Given the description of an element on the screen output the (x, y) to click on. 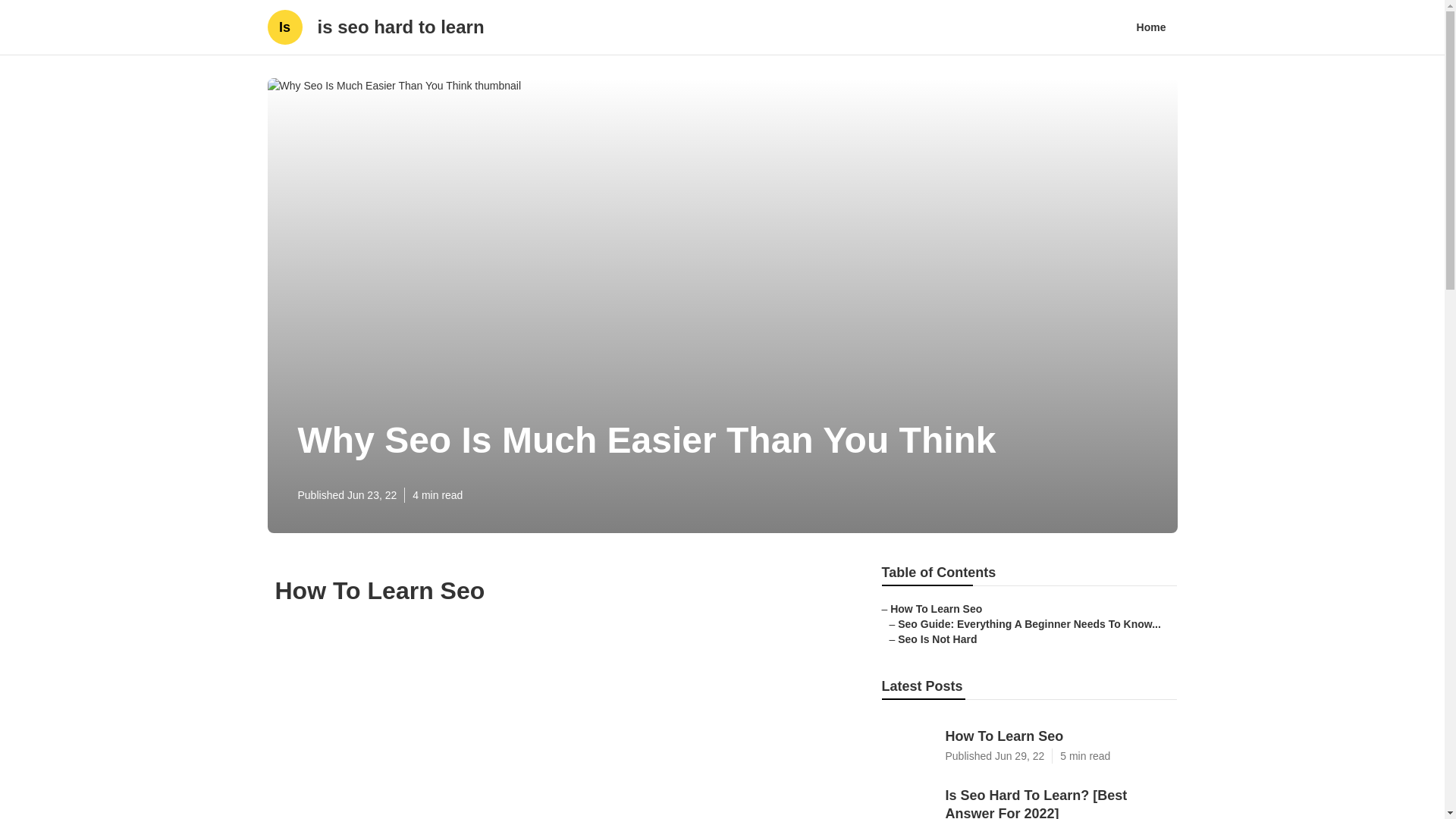
Home (1151, 27)
Seo Is Not Hard (937, 639)
How To Learn Seo (1028, 741)
Seo Guide: Everything A Beginner Needs To Know... (935, 608)
